Given the description of an element on the screen output the (x, y) to click on. 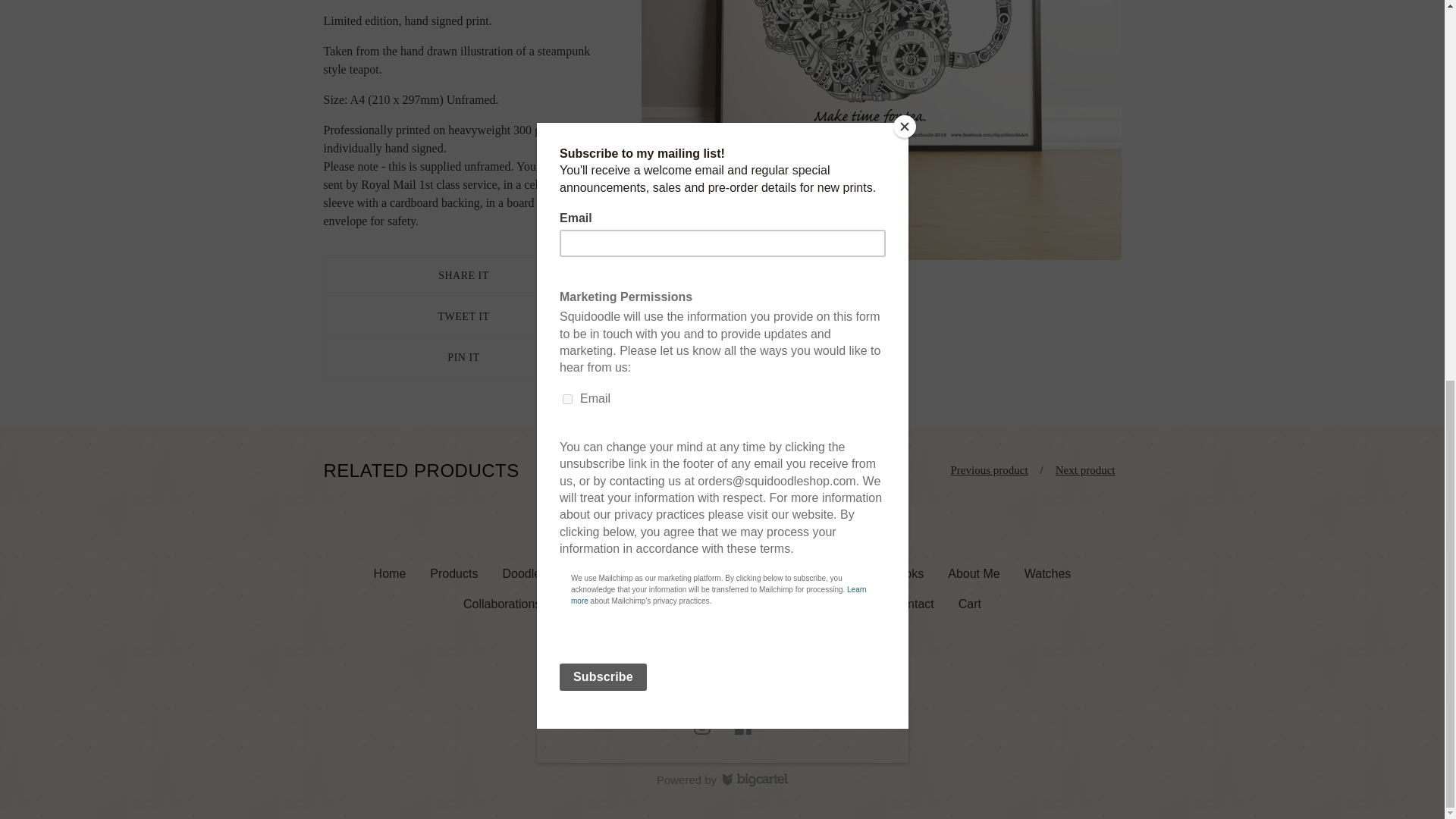
View Next product (1085, 469)
View Previous product (988, 469)
Products (453, 573)
About Me (973, 573)
Watches (1047, 573)
Previous product (988, 469)
The No Rules Journal (695, 603)
Doodled Letters (544, 573)
Next product (1085, 469)
View Doodled Letters (544, 573)
Coloring Books (882, 573)
Home (390, 573)
Buildings Illustrations (759, 573)
Custom Doodles (822, 603)
Pet Portraits (644, 573)
